Given the description of an element on the screen output the (x, y) to click on. 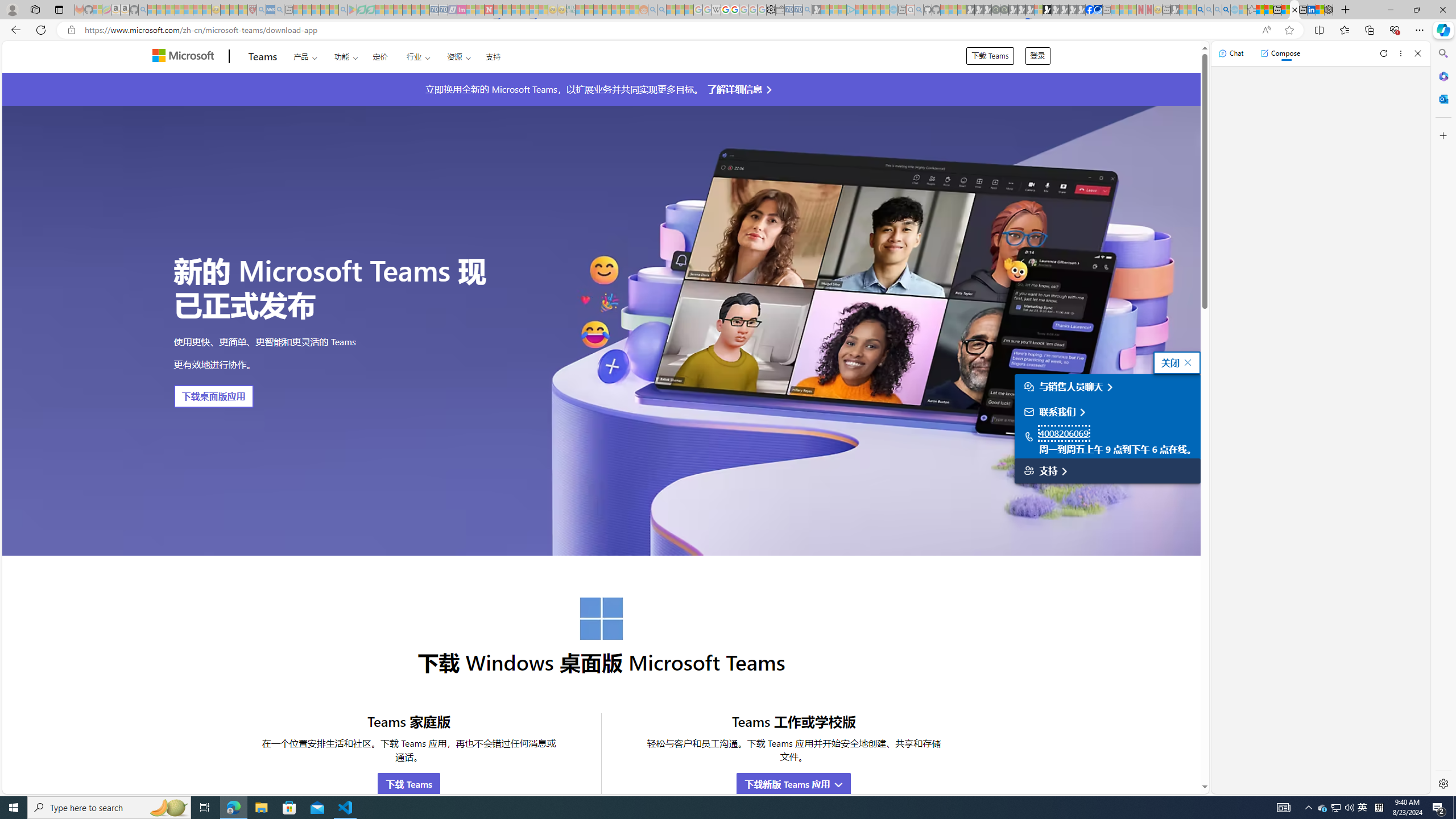
Teams (262, 56)
Aberdeen, Hong Kong SAR weather forecast | Microsoft Weather (1268, 9)
